Given the description of an element on the screen output the (x, y) to click on. 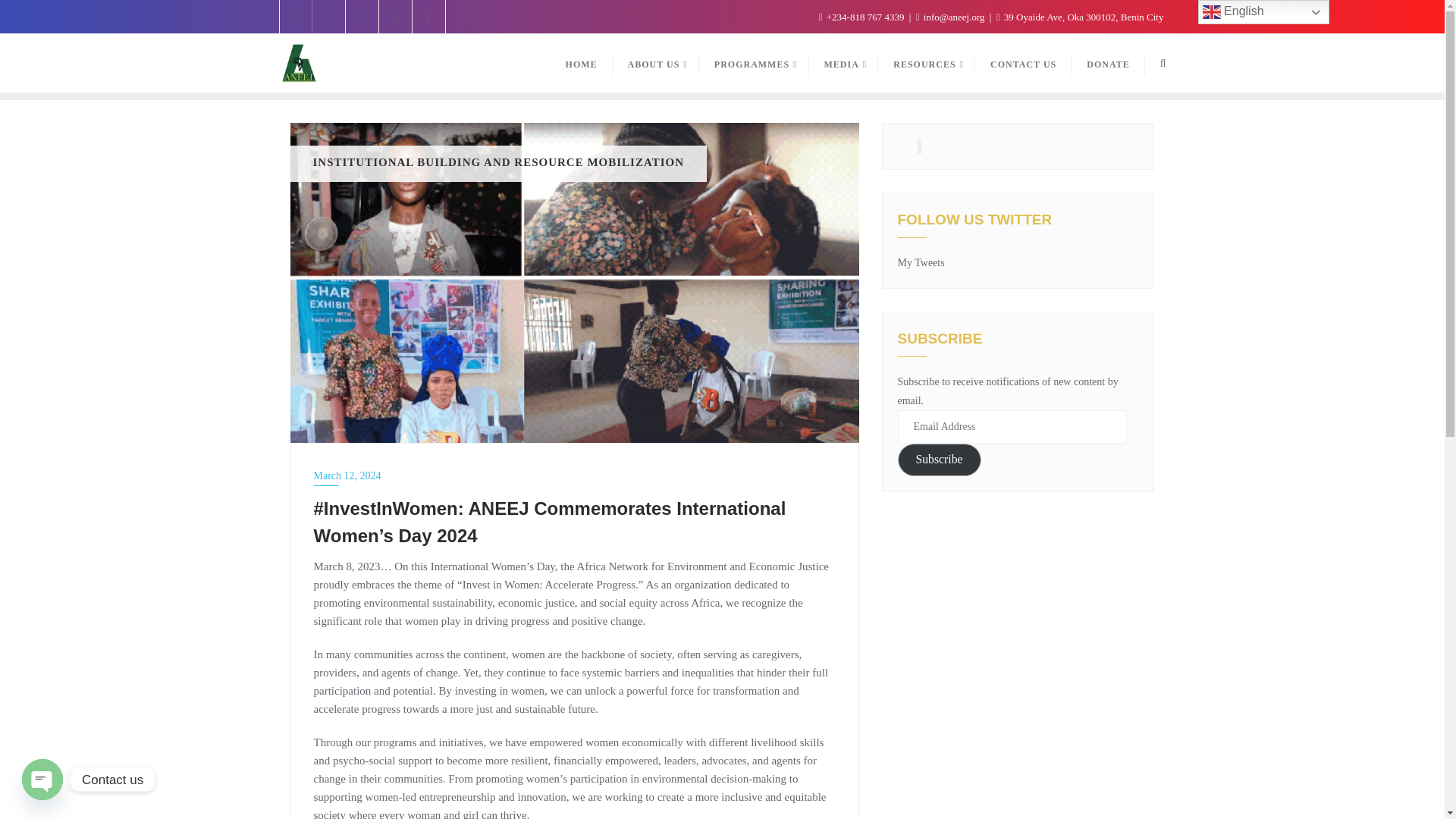
DONATE (1107, 63)
ABOUT US (655, 63)
CONTACT US (1023, 63)
HOME (581, 63)
RESOURCES (926, 63)
PROGRAMMES (753, 63)
MEDIA (844, 63)
